Given the description of an element on the screen output the (x, y) to click on. 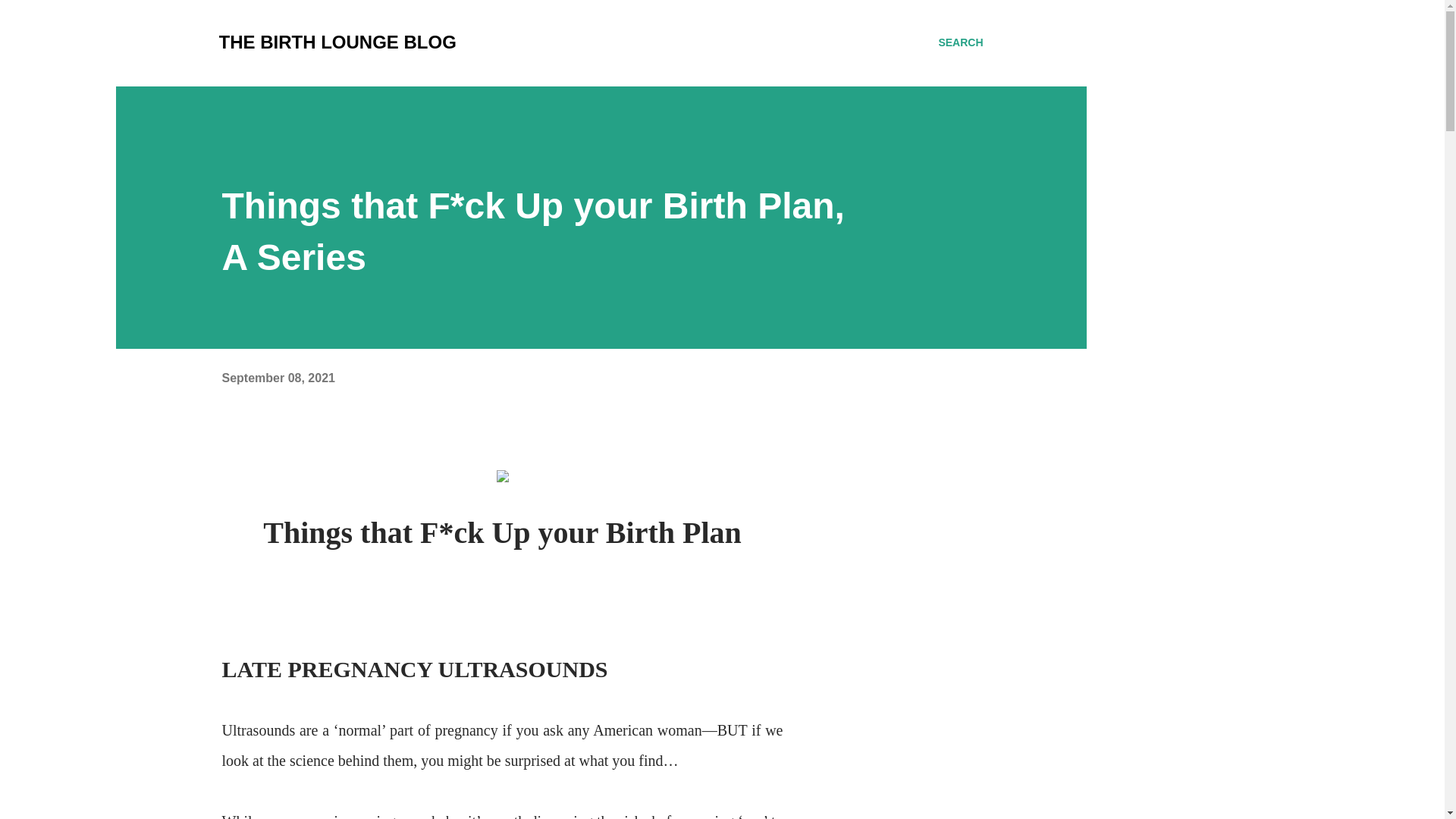
SEARCH (959, 42)
permanent link (277, 377)
September 08, 2021 (277, 377)
THE BIRTH LOUNGE BLOG (336, 41)
